Given the description of an element on the screen output the (x, y) to click on. 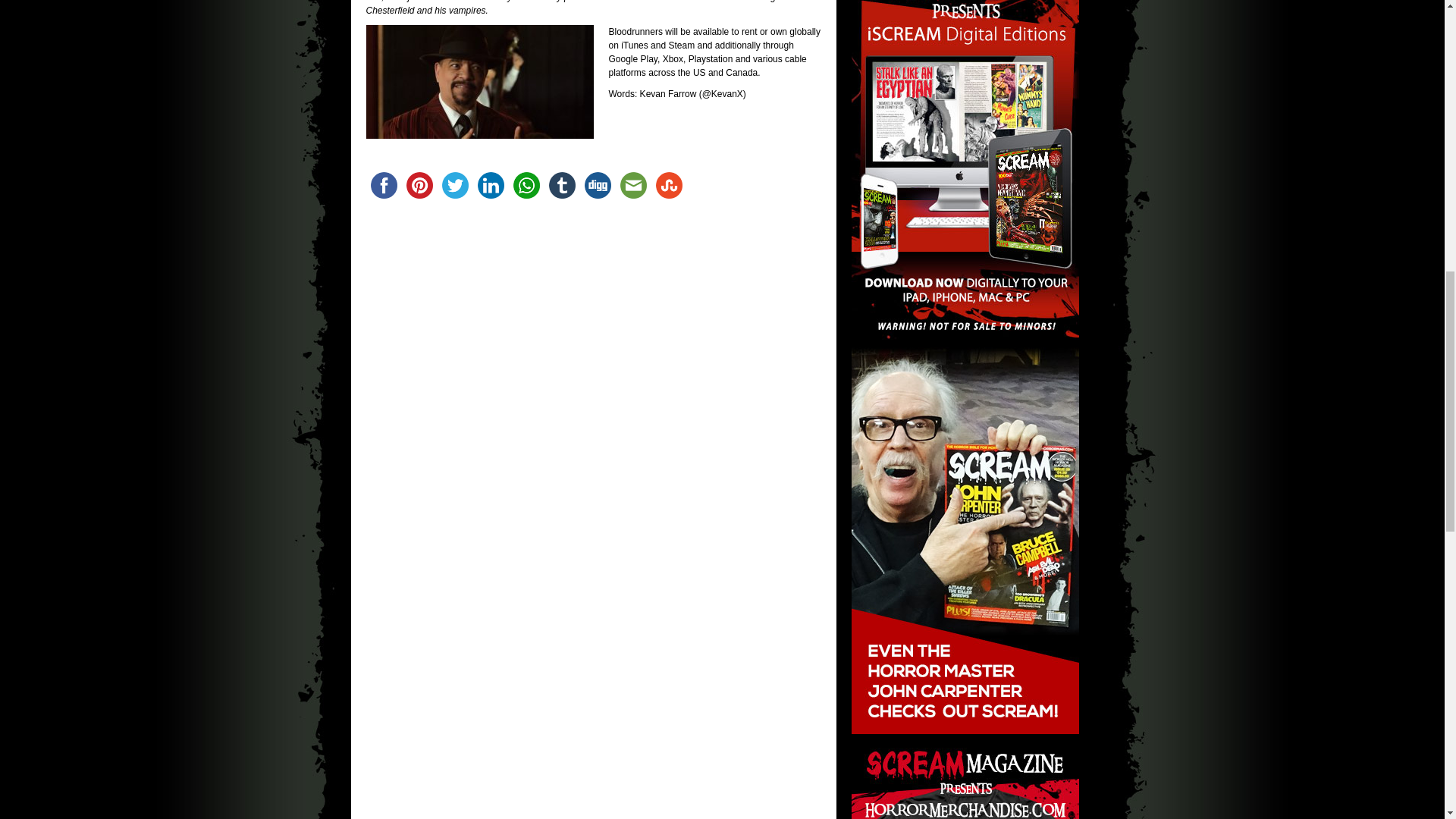
tumblr (561, 185)
pinterest (419, 185)
twitter (453, 185)
whatsapp (525, 185)
linkedin (490, 185)
diggit (596, 185)
facebook (383, 185)
